Given the description of an element on the screen output the (x, y) to click on. 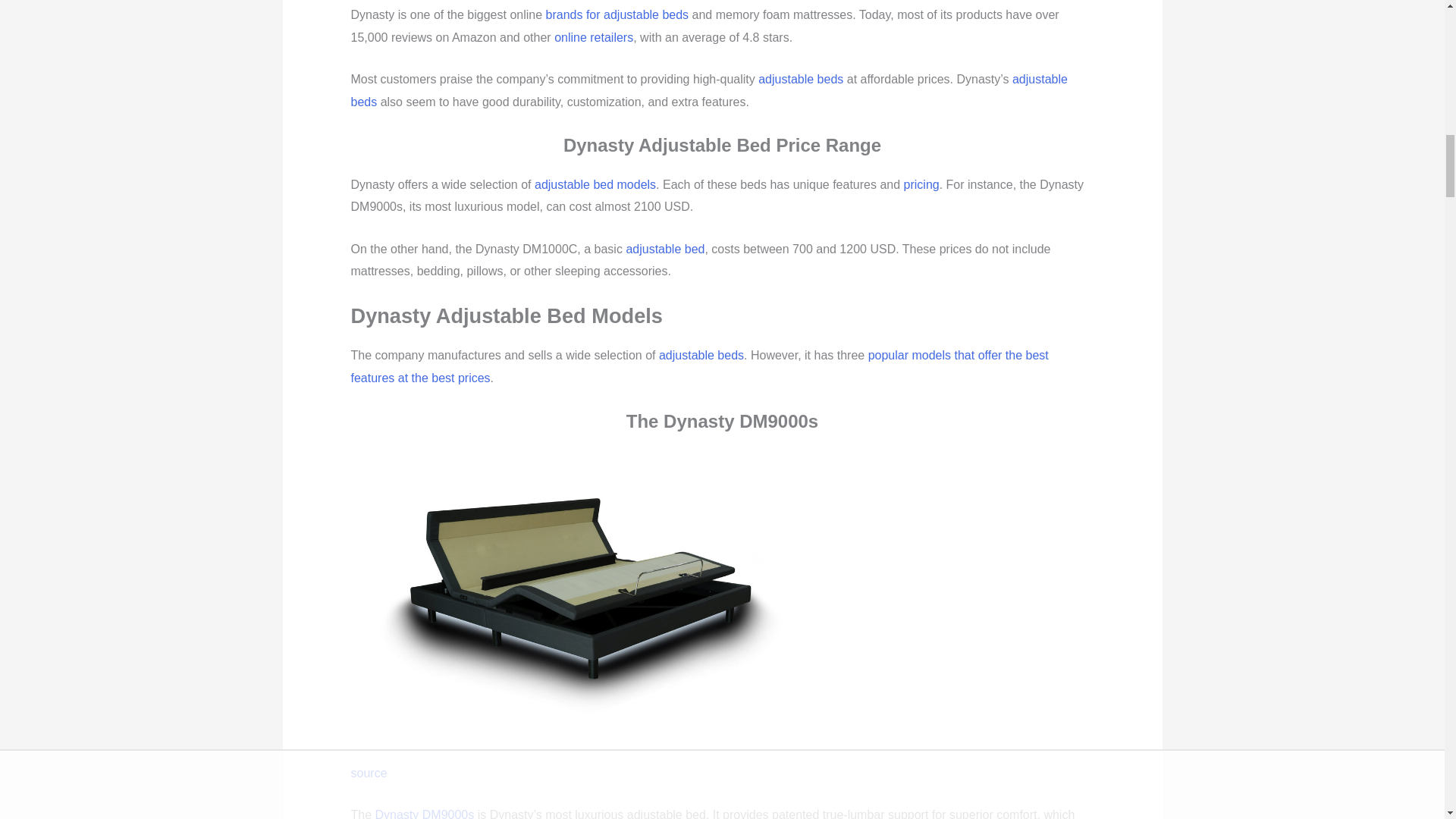
Dynasty DM9000s (570, 595)
